Given the description of an element on the screen output the (x, y) to click on. 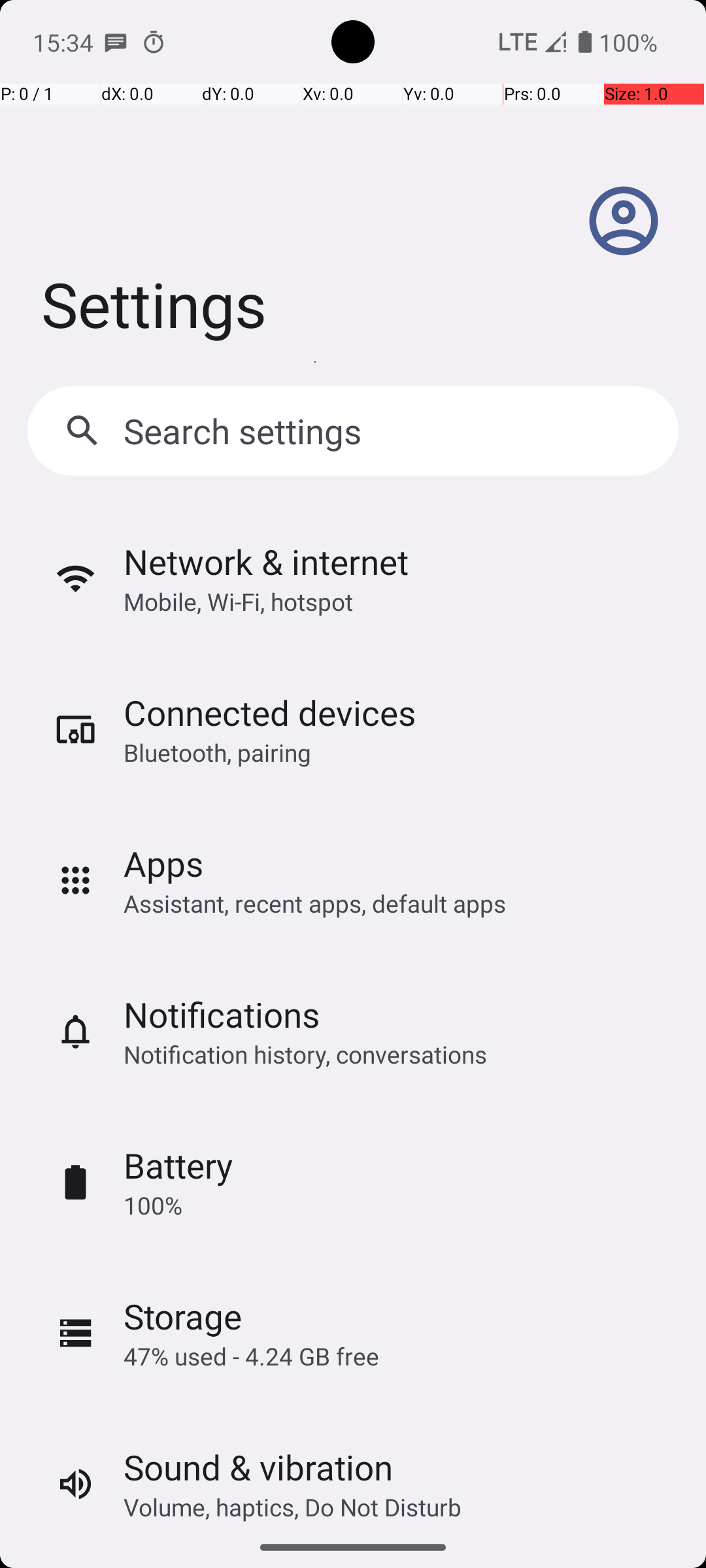
47% used - 4.24 GB free Element type: android.widget.TextView (251, 1355)
